Given the description of an element on the screen output the (x, y) to click on. 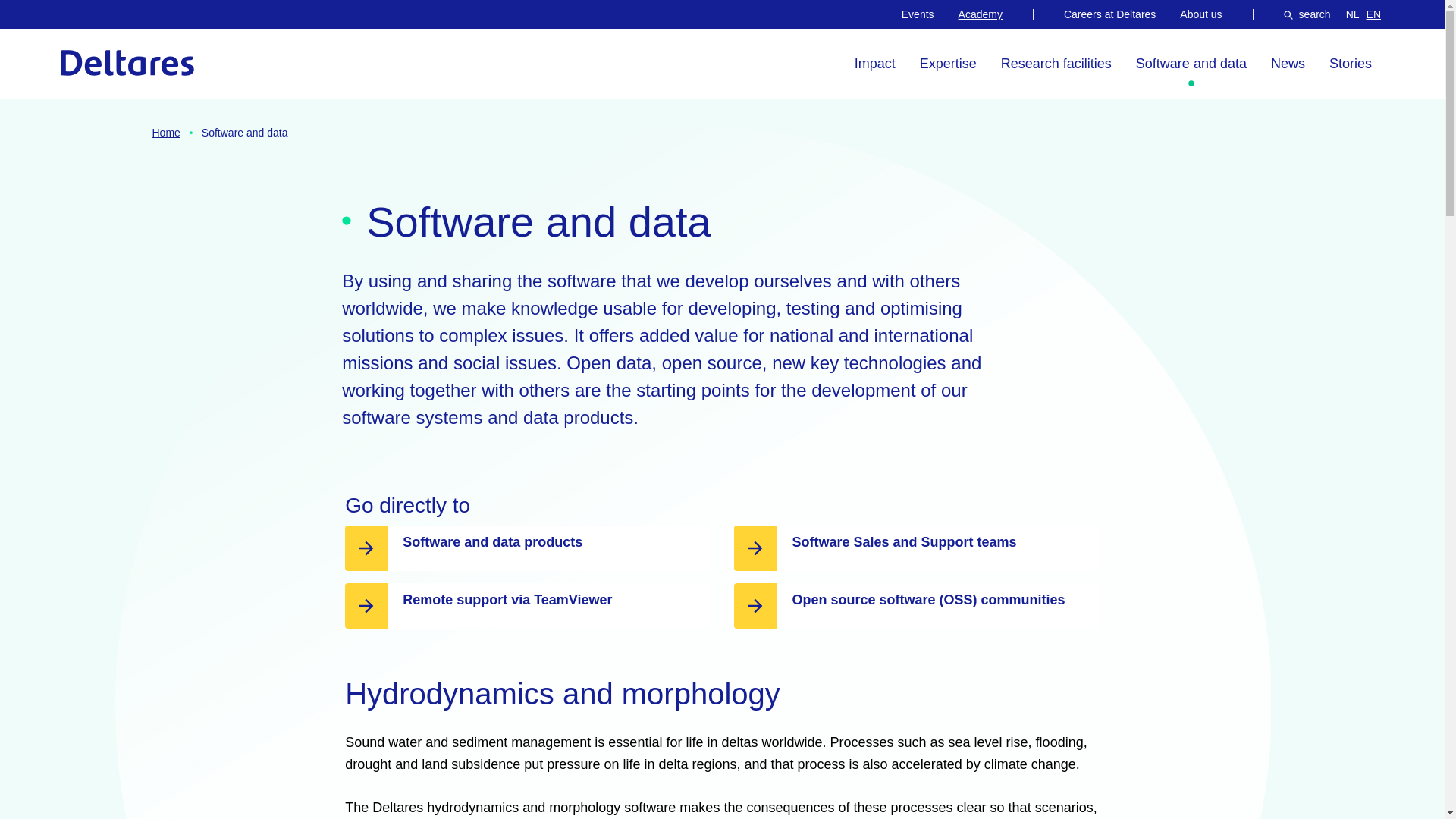
Expertise (1352, 14)
Impact (948, 64)
Stories (874, 64)
Careers at Deltares (1350, 64)
Software and data (1110, 14)
Events (1190, 64)
Academy (917, 14)
search (980, 14)
Naar hoofdcontent (1307, 14)
News (84, 22)
About us (1287, 64)
Research facilities (1200, 14)
To the homepage (1056, 64)
Naar hoofdcontent (127, 62)
